Given the description of an element on the screen output the (x, y) to click on. 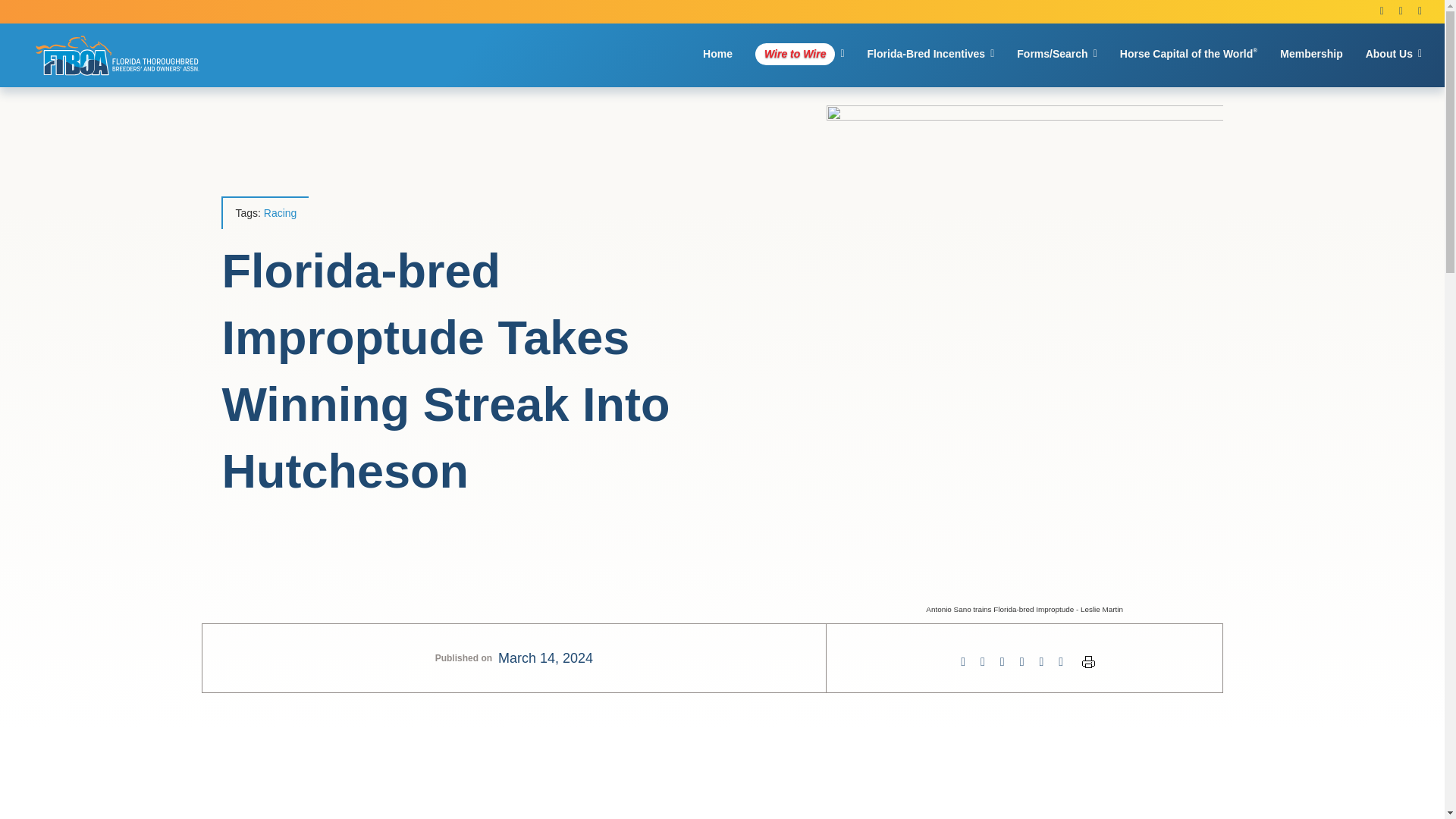
X (982, 661)
Membership (1310, 54)
click icon to print (1087, 662)
March 14, 2024 (544, 658)
Telegram (1041, 661)
Florida-Bred Incentives (930, 54)
Racing (280, 213)
Wire to Wire (799, 54)
Facebook (962, 661)
LinkedIn (1021, 661)
Reddit (1001, 661)
Pinterest (1060, 661)
